Given the description of an element on the screen output the (x, y) to click on. 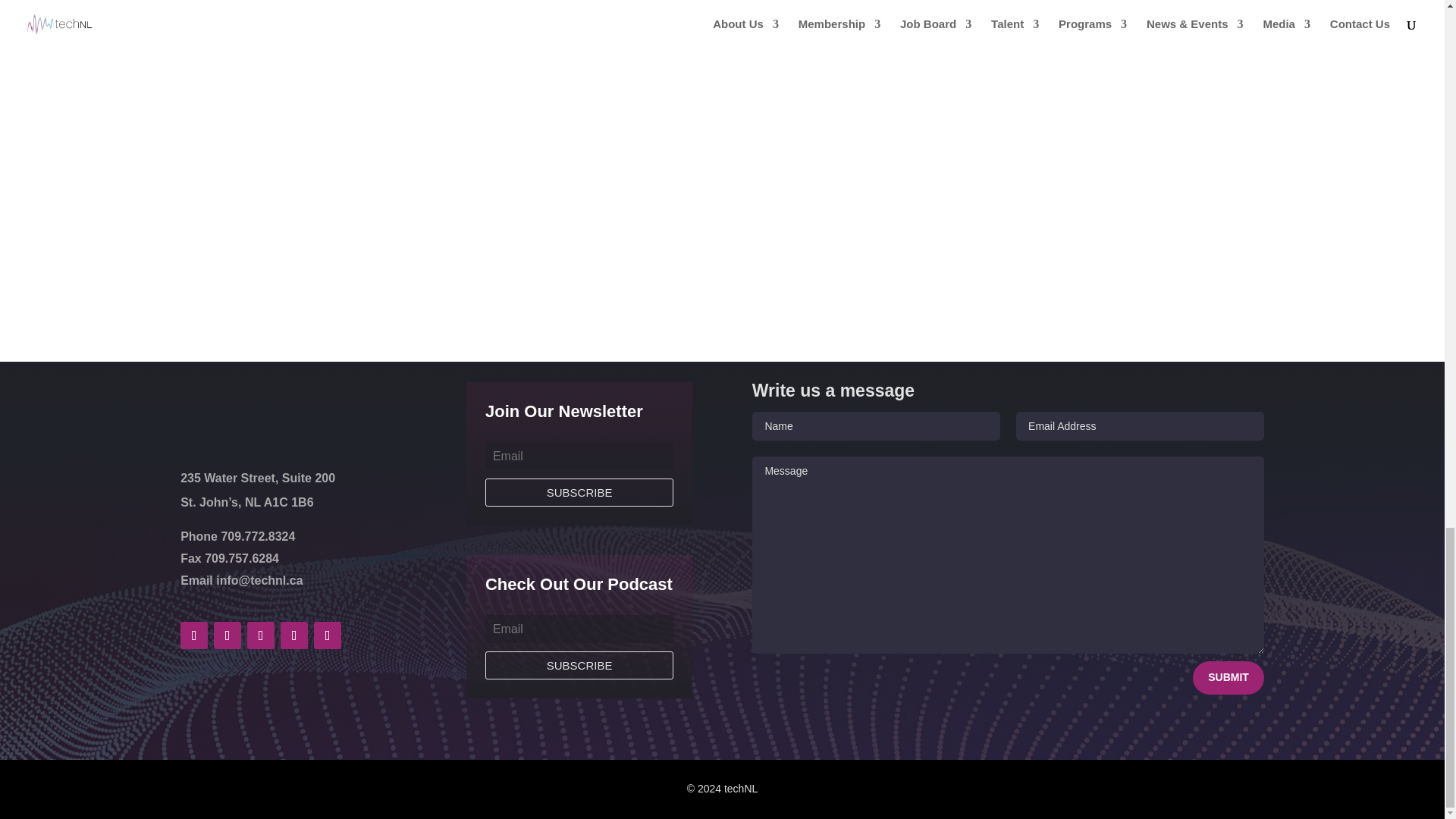
Follow on X (227, 635)
Follow on Instagram (327, 635)
Follow on Facebook (194, 635)
Follow on Youtube (294, 635)
Follow on LinkedIn (261, 635)
